Given the description of an element on the screen output the (x, y) to click on. 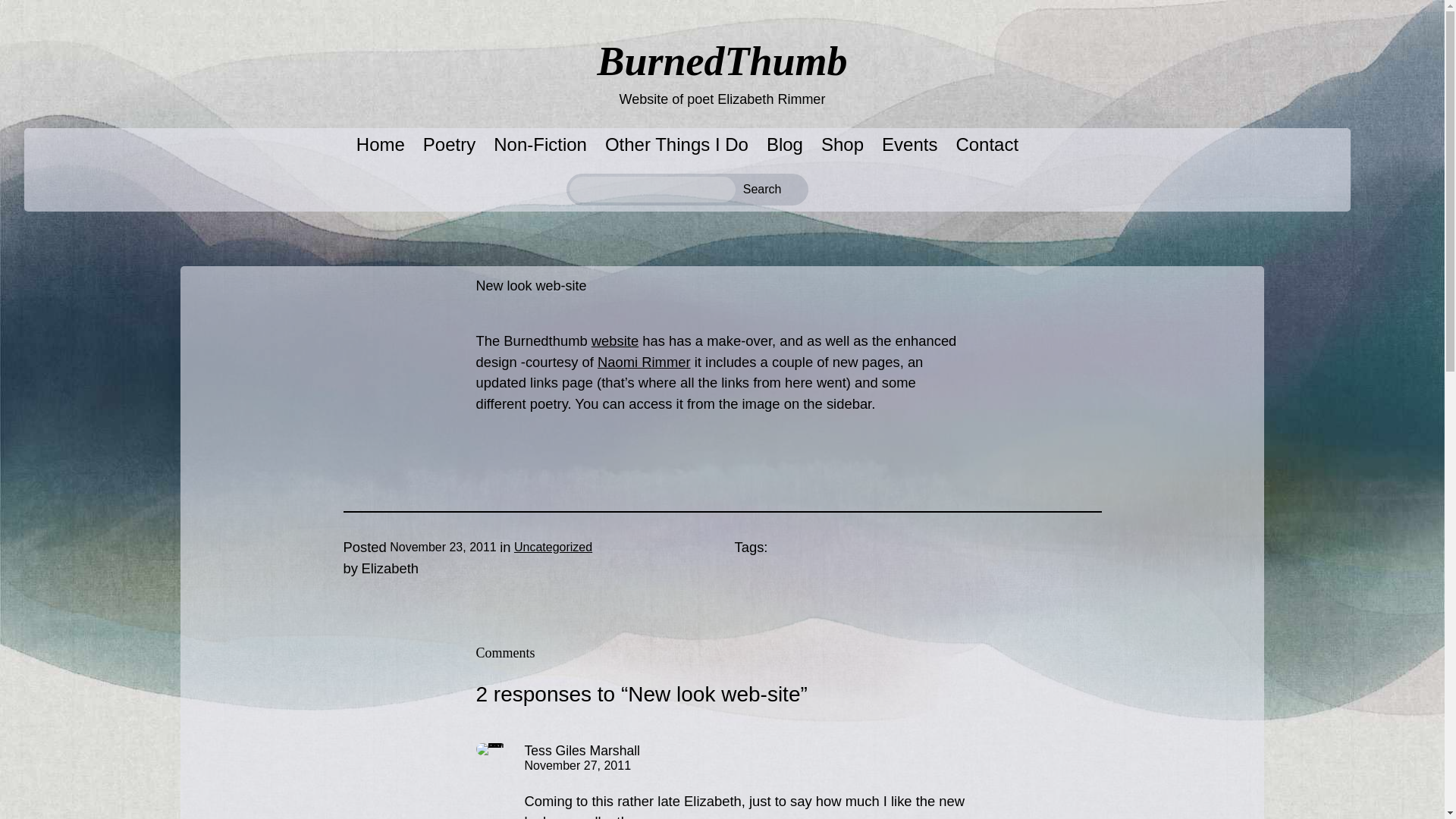
Events (909, 144)
Shop (842, 144)
Tess Giles Marshall (582, 750)
Blog (785, 144)
Non-Fiction (539, 144)
Poetry (449, 144)
Naomi Rimmer (643, 361)
November 27, 2011 (577, 765)
Home (380, 144)
Search (774, 189)
Contact (986, 144)
Other Things I Do (676, 144)
website (615, 340)
BurnedThumb (721, 61)
Uncategorized (552, 546)
